Given the description of an element on the screen output the (x, y) to click on. 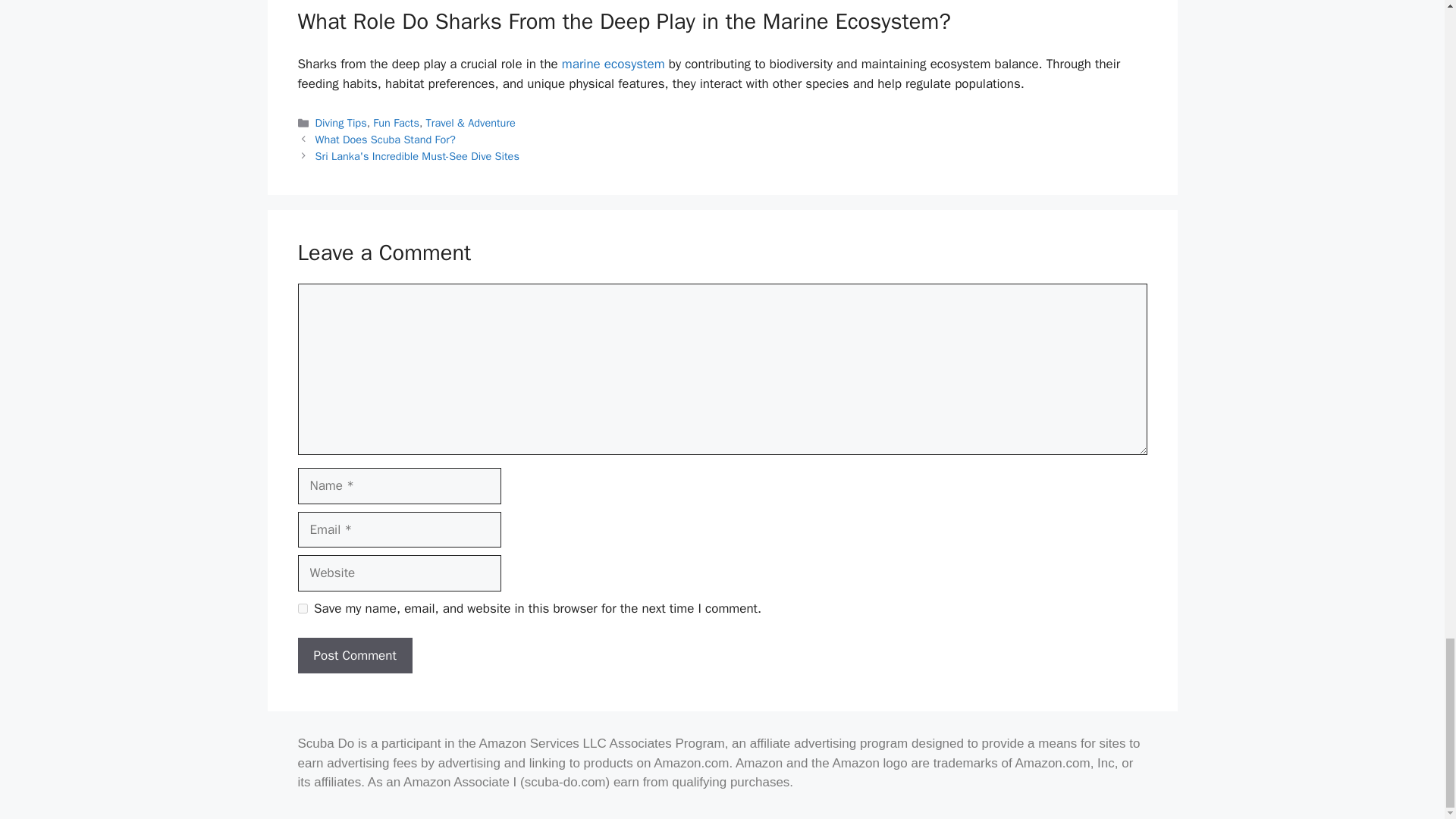
Post Comment (354, 656)
yes (302, 608)
Fun Facts (395, 122)
Sri Lanka's Incredible Must-See Dive Sites (417, 155)
marine ecosystem (613, 64)
Diving Tips (340, 122)
What Does Scuba Stand For? (385, 139)
Post Comment (354, 656)
